Given the description of an element on the screen output the (x, y) to click on. 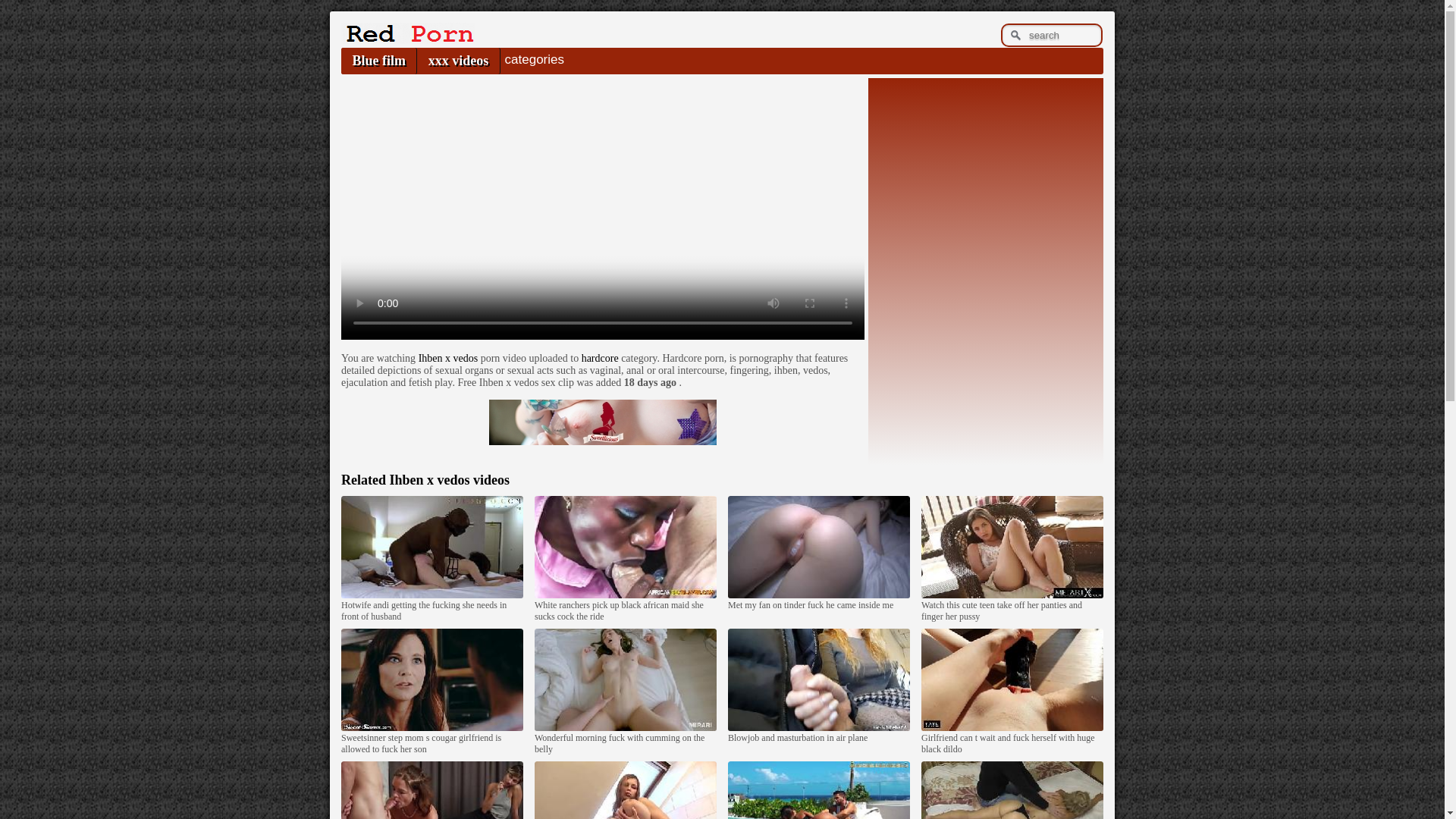
Ihben x vedos videos (448, 479)
Indian Porn (407, 39)
Ihben x vedos (449, 357)
categories (533, 59)
Blue film (378, 60)
Blue film (378, 60)
xxx videos (457, 60)
hardcore (599, 357)
xxx videos (457, 60)
